Given the description of an element on the screen output the (x, y) to click on. 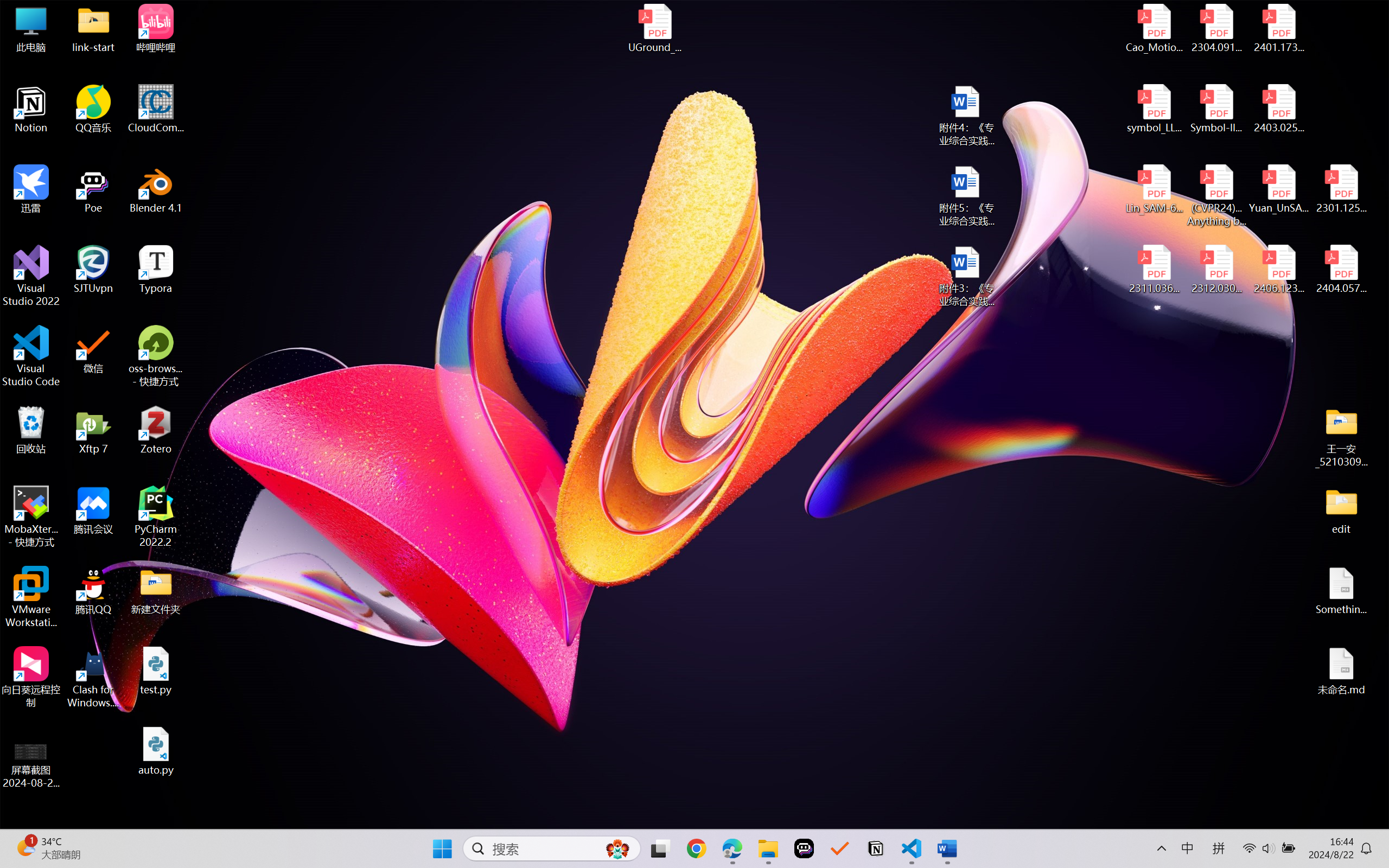
2401.17399v1.pdf (1278, 28)
Xftp 7 (93, 430)
Blender 4.1 (156, 189)
2404.05719v1.pdf (1340, 269)
Visual Studio Code (31, 355)
